Given the description of an element on the screen output the (x, y) to click on. 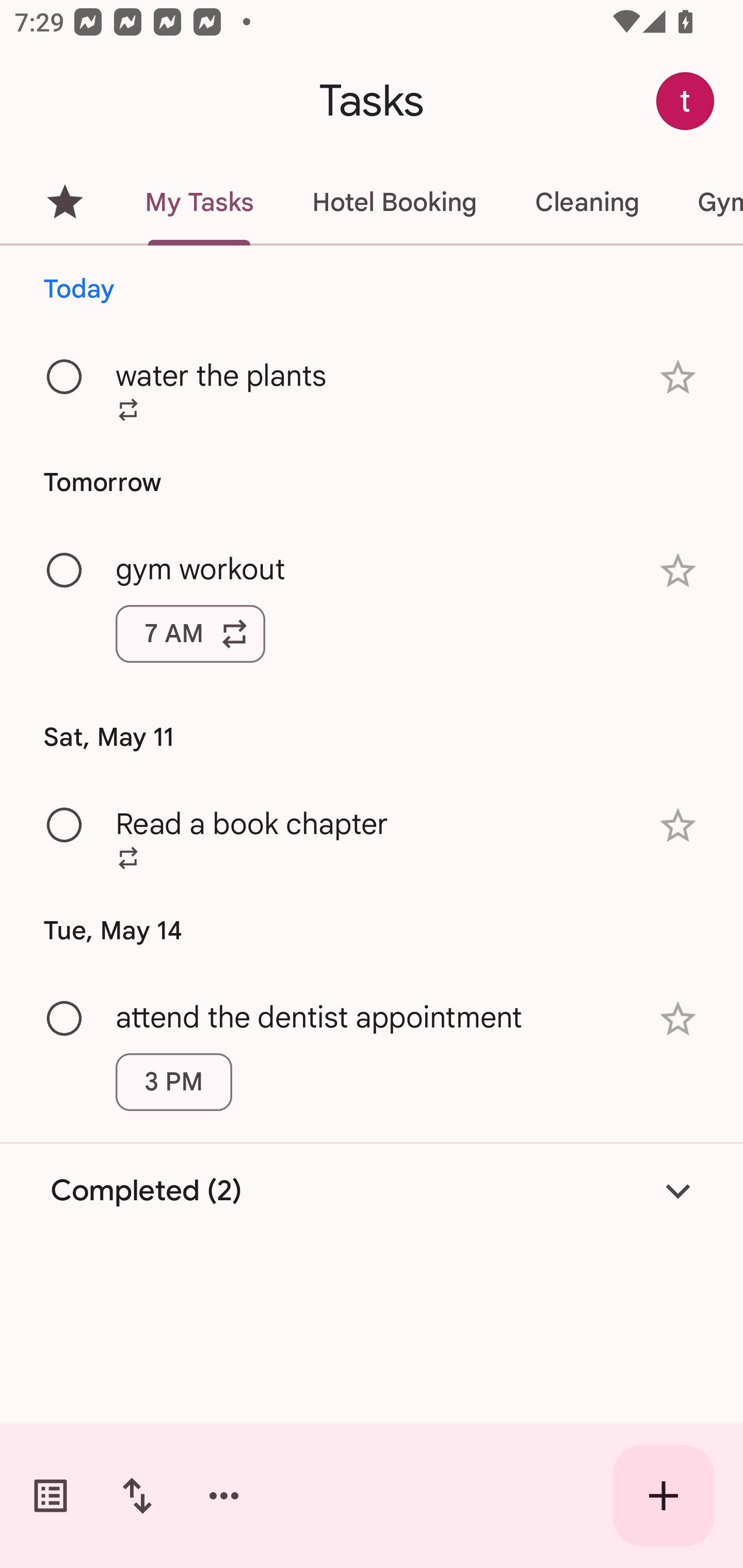
Starred (64, 202)
Hotel Booking (394, 202)
Cleaning (586, 202)
Add star (677, 376)
Mark as complete (64, 377)
Add star (677, 571)
Mark as complete (64, 570)
7 AM (190, 634)
Add star (677, 825)
Mark as complete (64, 825)
Add star (677, 1019)
Mark as complete (64, 1019)
3 PM (173, 1081)
Completed (2) (371, 1190)
Switch task lists (50, 1495)
Create new task (663, 1495)
Change sort order (136, 1495)
More options (223, 1495)
